Given the description of an element on the screen output the (x, y) to click on. 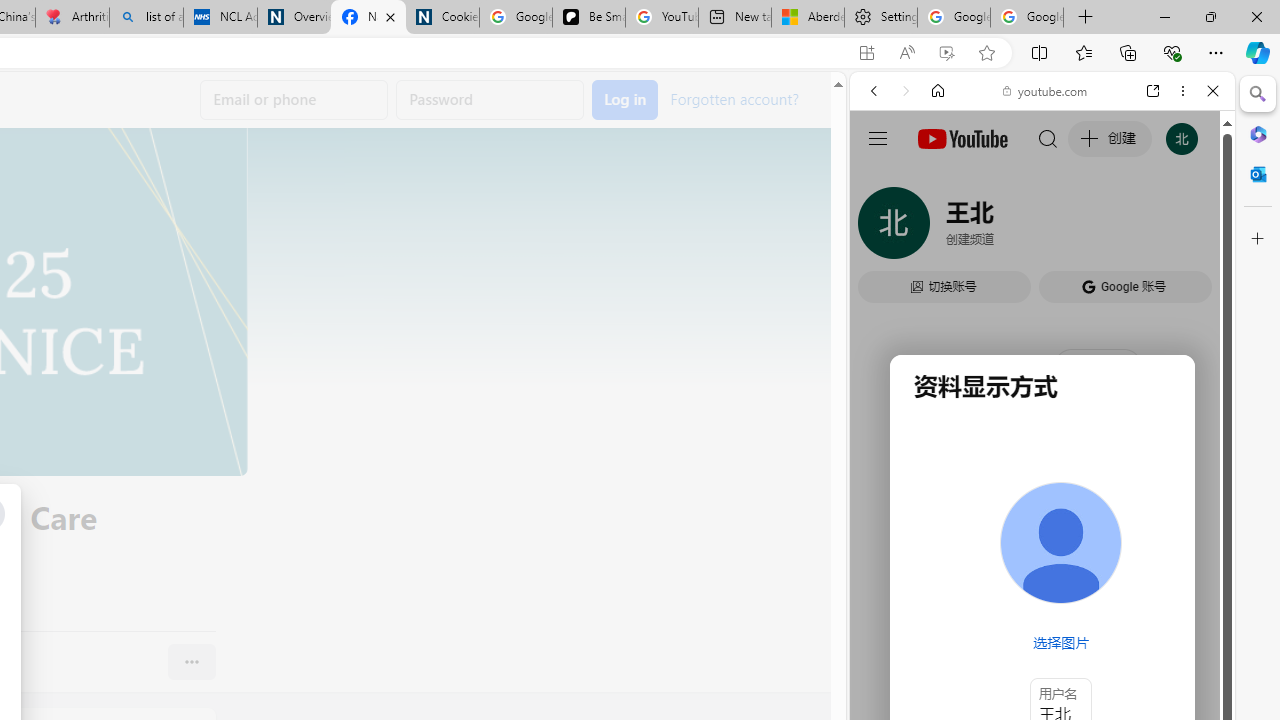
Email or phone (294, 99)
Password (489, 99)
